Given the description of an element on the screen output the (x, y) to click on. 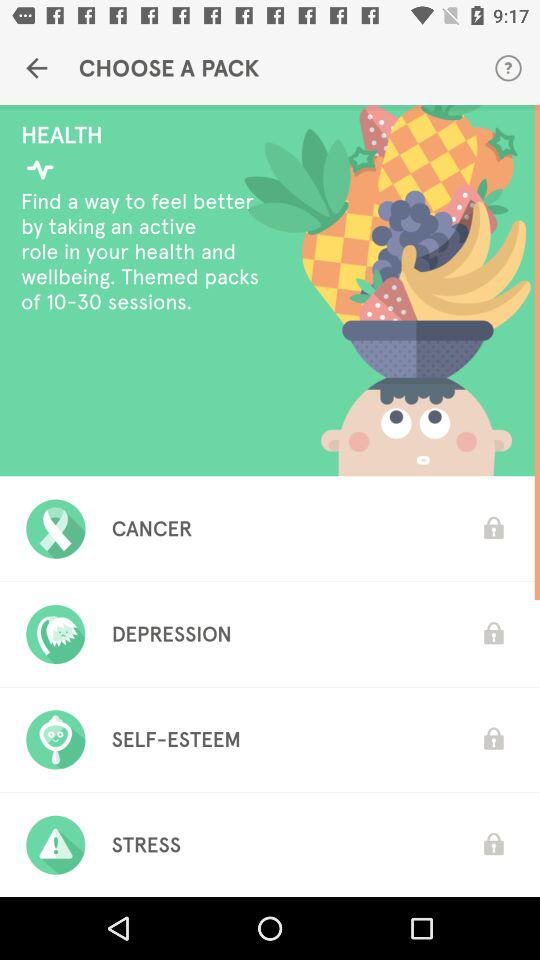
choose the item above the self-esteem (171, 634)
